Given the description of an element on the screen output the (x, y) to click on. 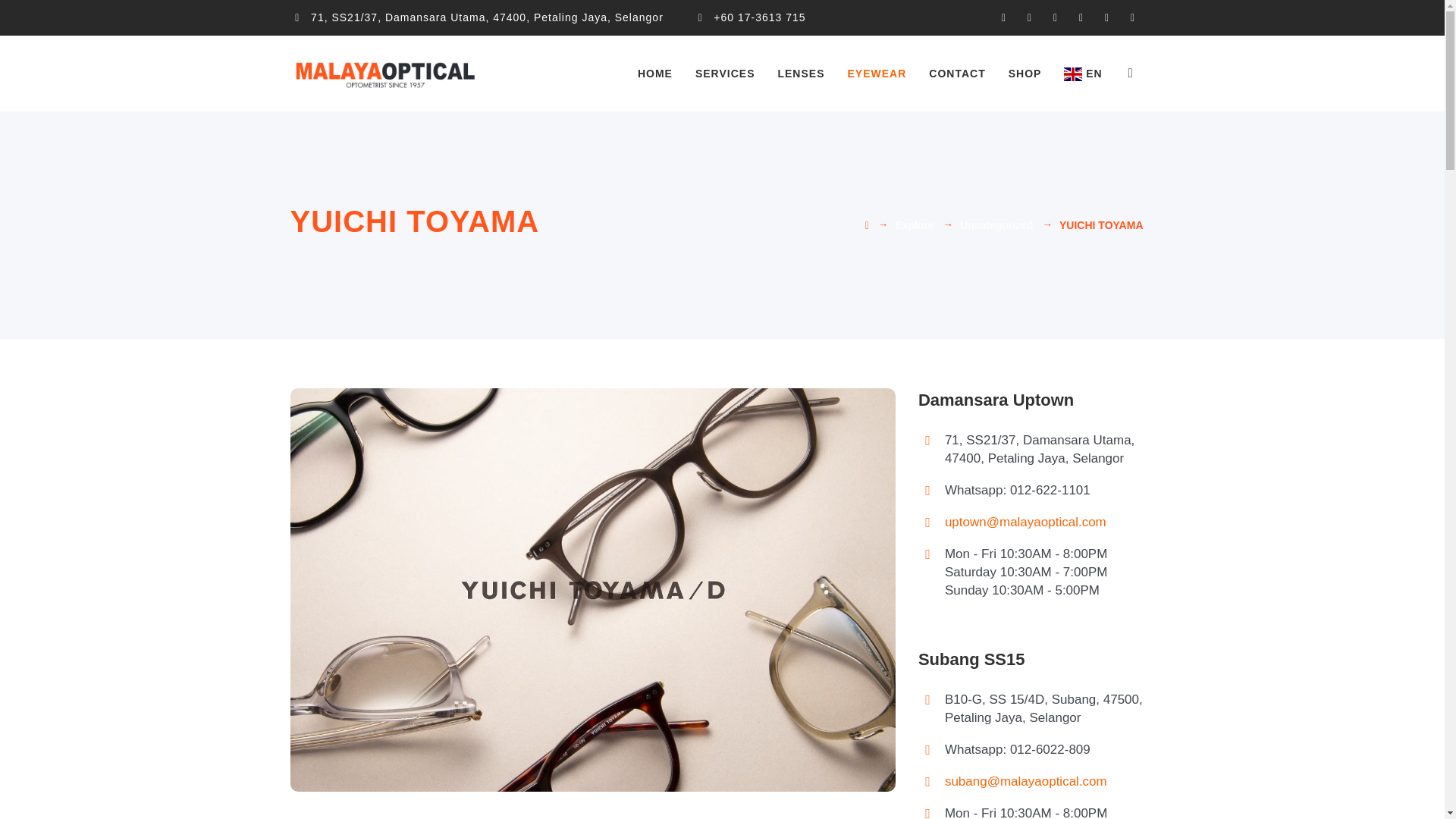
HOME (654, 73)
Go to the Uncategorized Category archives. (995, 224)
SERVICES (725, 73)
LENSES (800, 73)
Go to Explore. (914, 224)
